Given the description of an element on the screen output the (x, y) to click on. 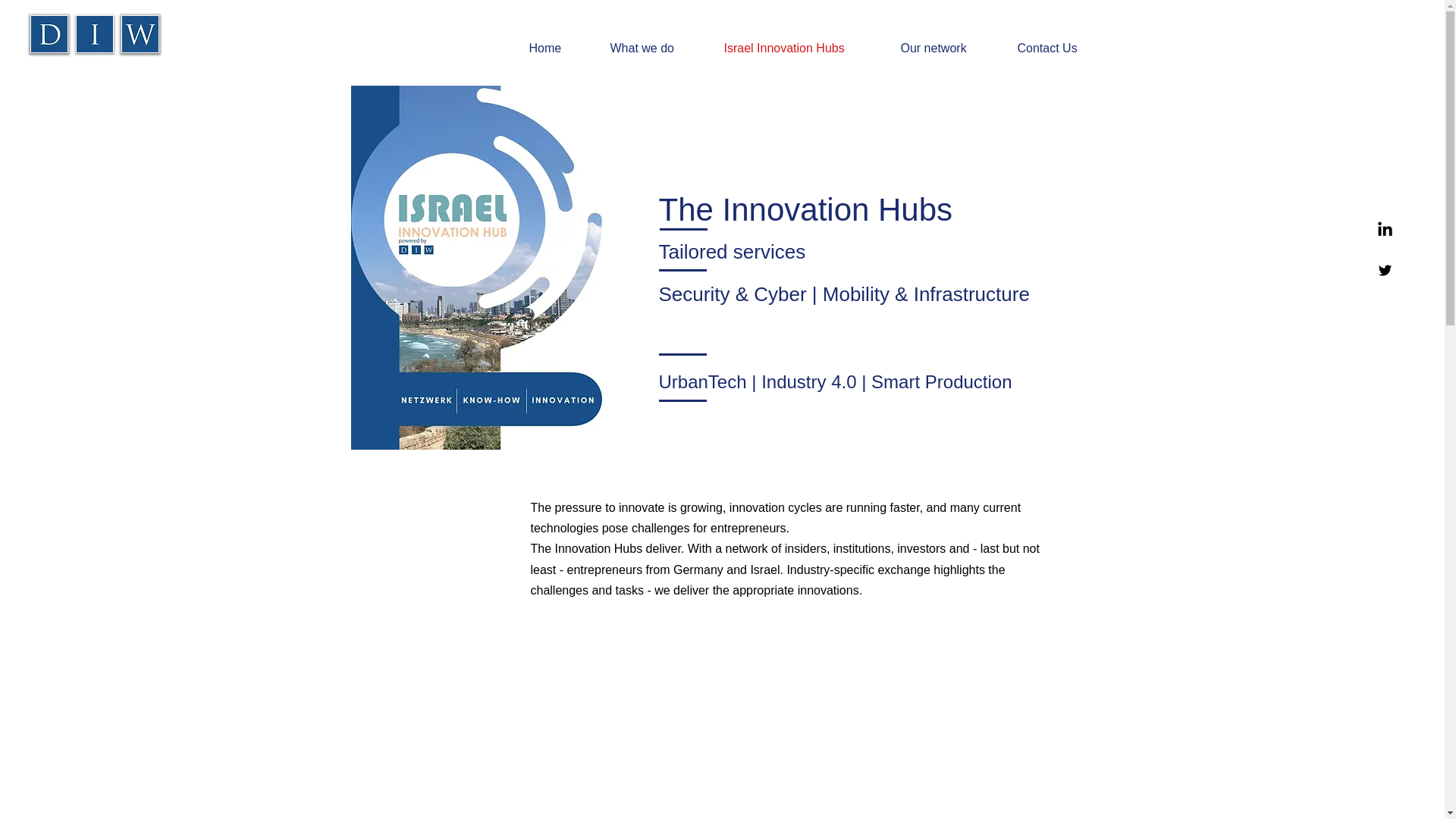
What we do (655, 48)
Contact Us (1061, 48)
Our network (947, 48)
Home (557, 48)
Israel Innovation Hubs (801, 48)
